Given the description of an element on the screen output the (x, y) to click on. 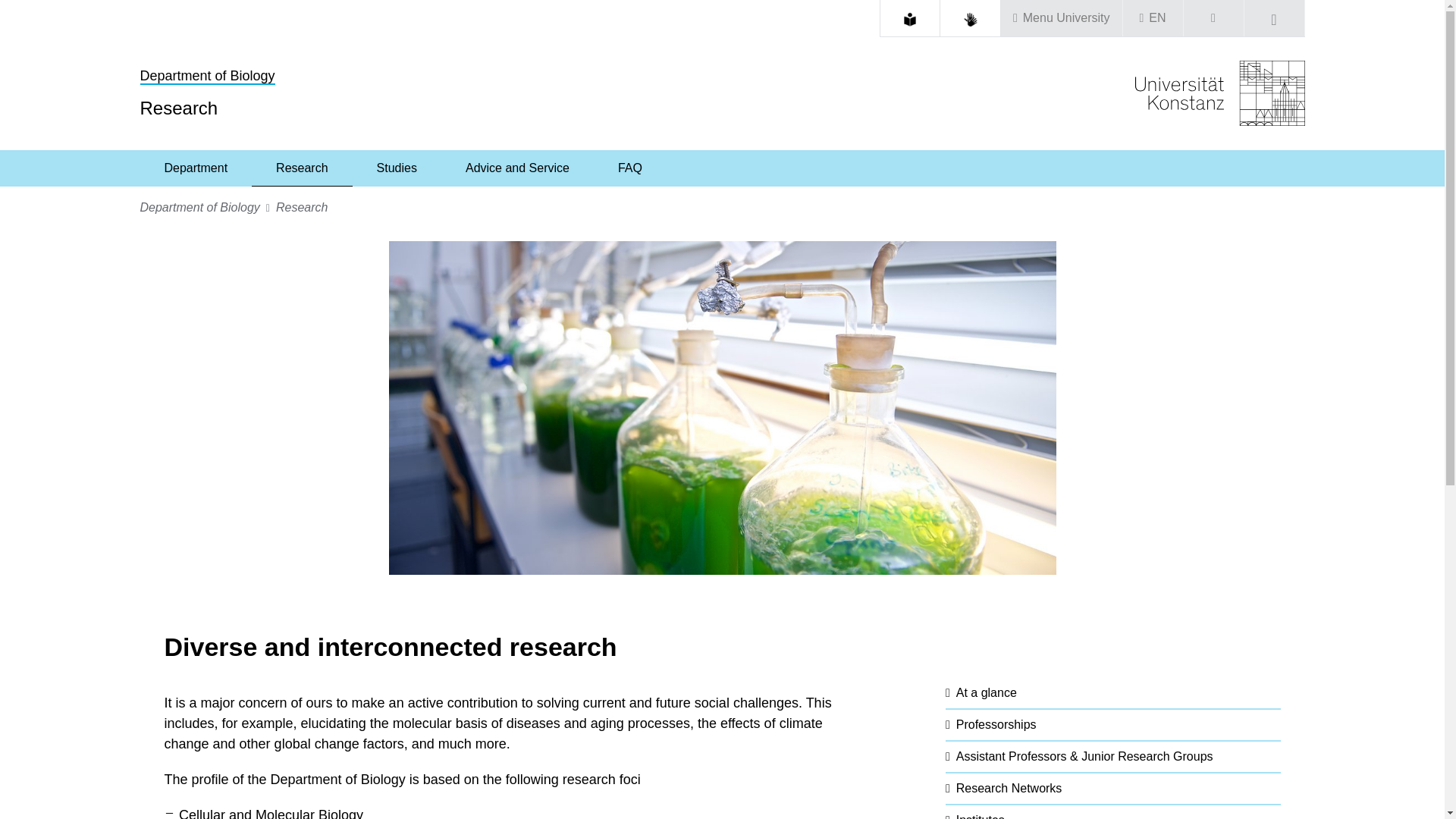
Toggle Searchoverlay (1273, 18)
Menu University (1061, 18)
Department of Biology (207, 76)
Sign Language (970, 19)
Simple Language (909, 19)
EN (1152, 18)
Research (301, 167)
Login (1212, 18)
Sprache wechseln (1152, 18)
English (1157, 17)
